Given the description of an element on the screen output the (x, y) to click on. 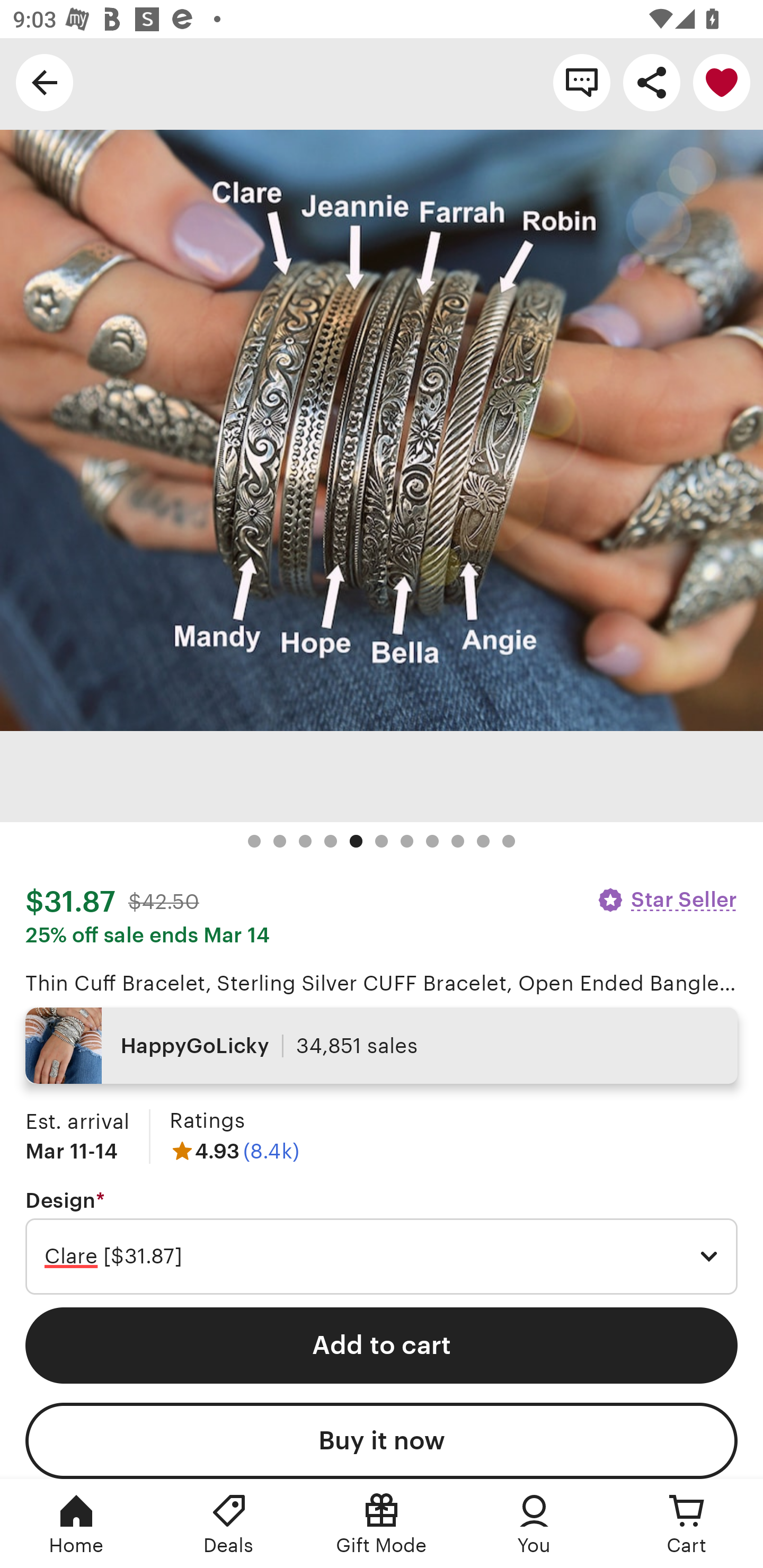
Navigate up (44, 81)
Contact shop (581, 81)
Share (651, 81)
Star Seller (666, 899)
HappyGoLicky 34,851 sales (381, 1045)
Ratings (206, 1120)
4.93 (8.4k) (234, 1150)
Design * Required Clare [$31.87] (381, 1241)
Clare [$31.87] (381, 1256)
Add to cart (381, 1344)
Buy it now (381, 1440)
Deals (228, 1523)
Gift Mode (381, 1523)
You (533, 1523)
Cart (686, 1523)
